Given the description of an element on the screen output the (x, y) to click on. 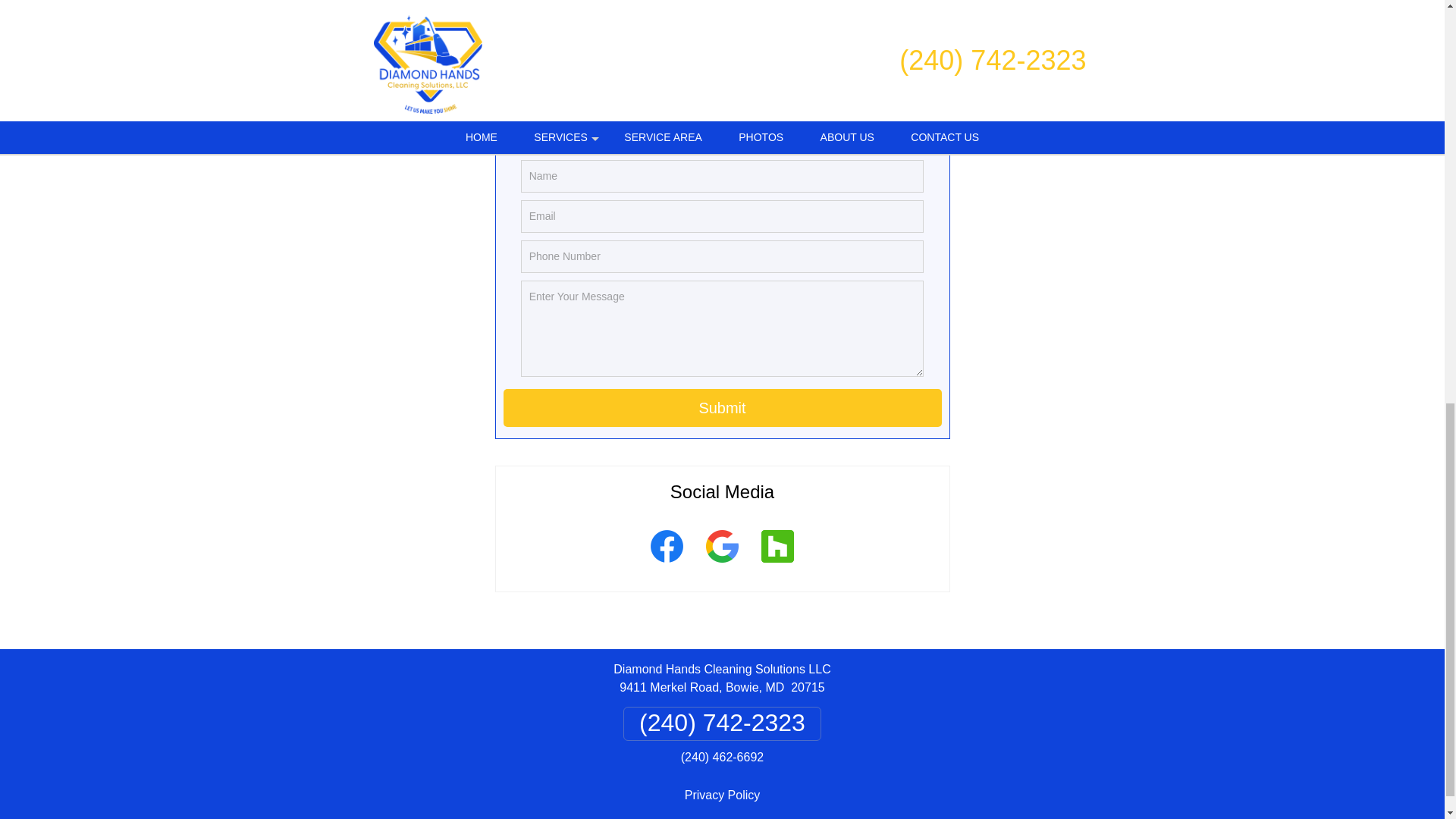
Submit (722, 407)
Houzz (777, 564)
Privacy Policy (722, 794)
Facebook (666, 564)
Google (721, 564)
